Given the description of an element on the screen output the (x, y) to click on. 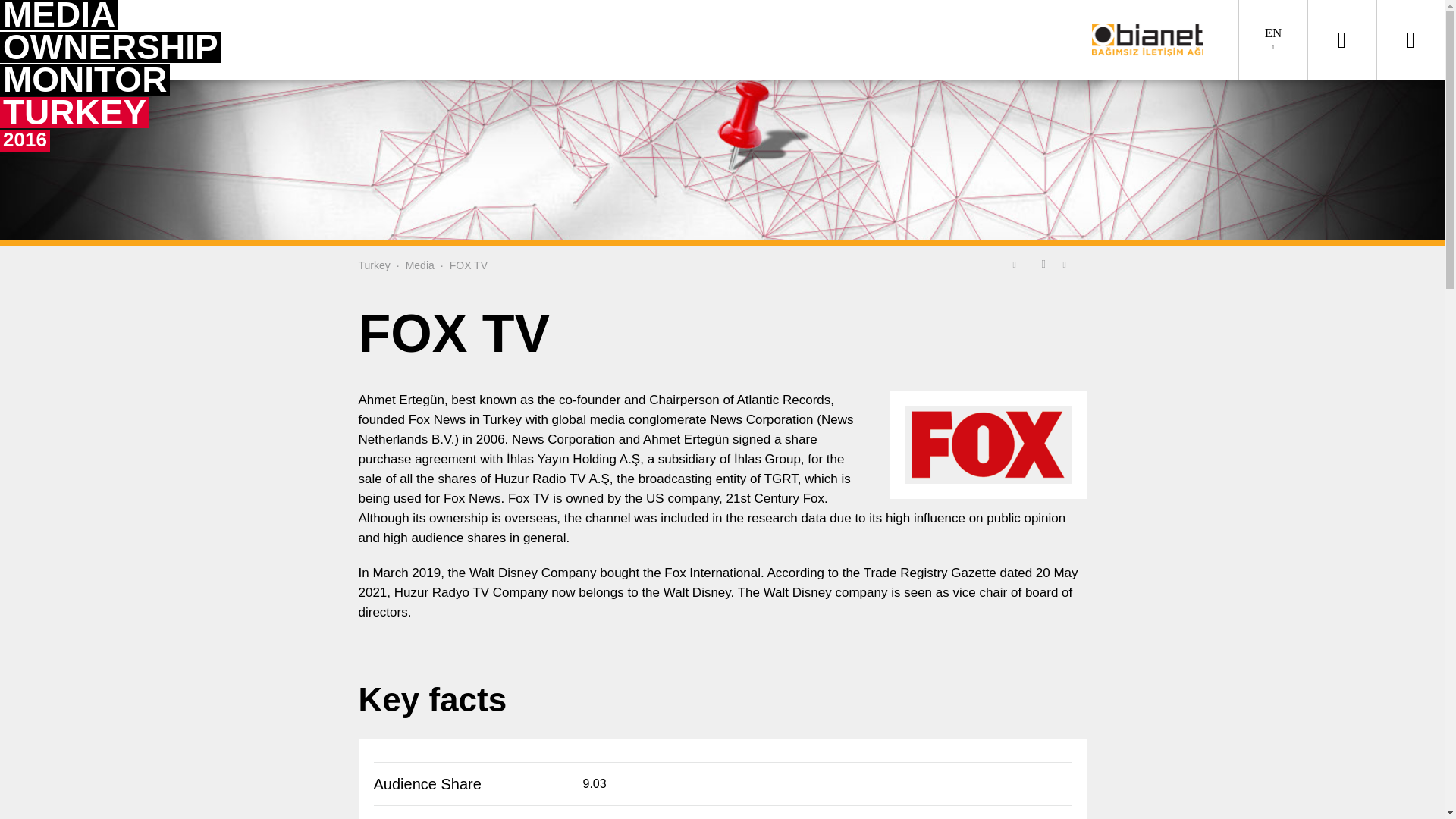
Bianet (1153, 39)
Share this site on facebook (1042, 263)
Media (419, 264)
Share this site on twitter (1017, 263)
Media (419, 264)
FOX TV (468, 264)
Media Ownership Monitor Turkey (374, 264)
Turkey (374, 264)
facebook (1042, 263)
twitter (1017, 263)
Share this site by e-mail (1068, 263)
email (1068, 263)
